Given the description of an element on the screen output the (x, y) to click on. 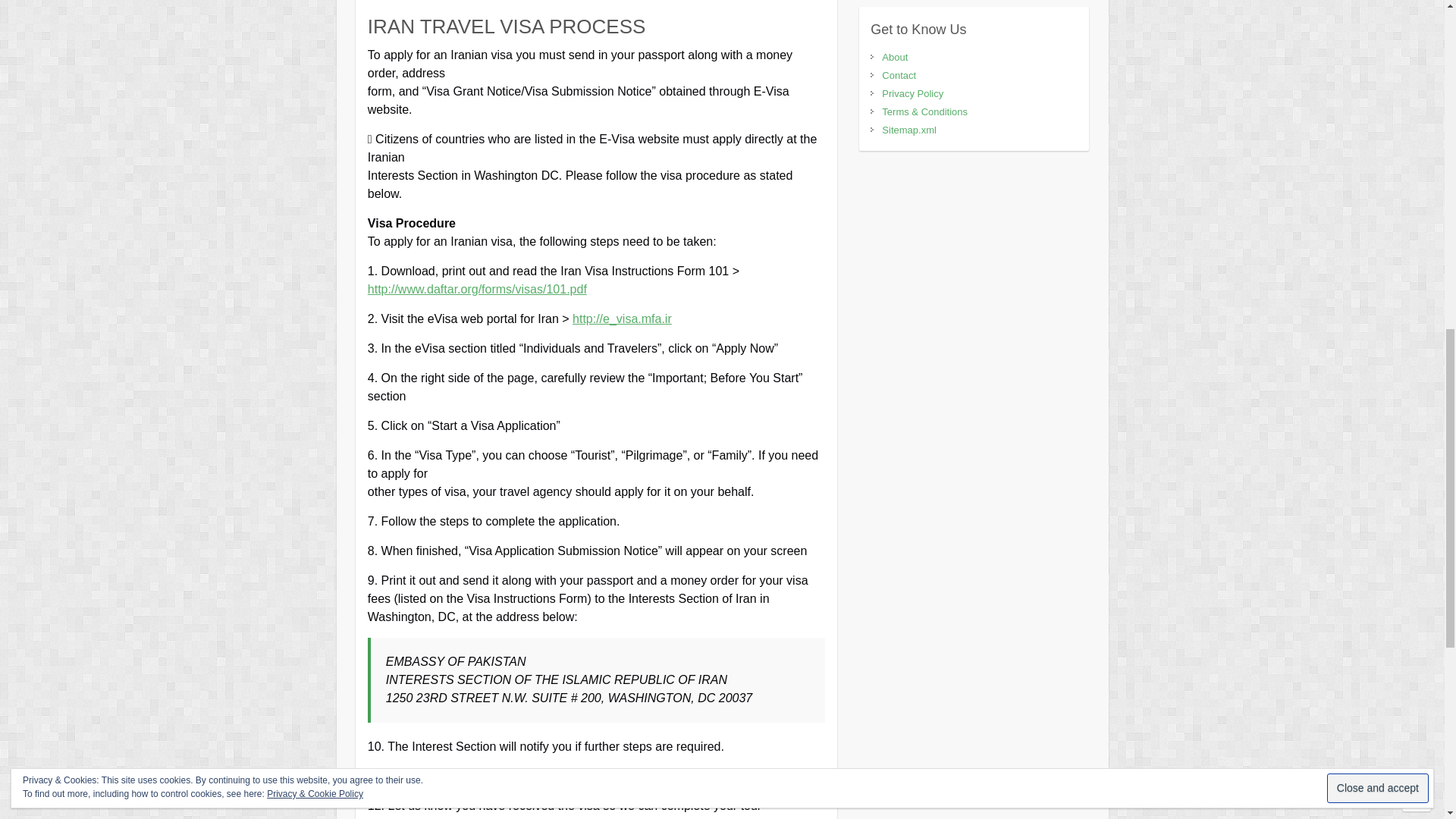
Sitemap.xml (909, 129)
Privacy Policy (912, 93)
Contact (898, 75)
About (894, 57)
